Given the description of an element on the screen output the (x, y) to click on. 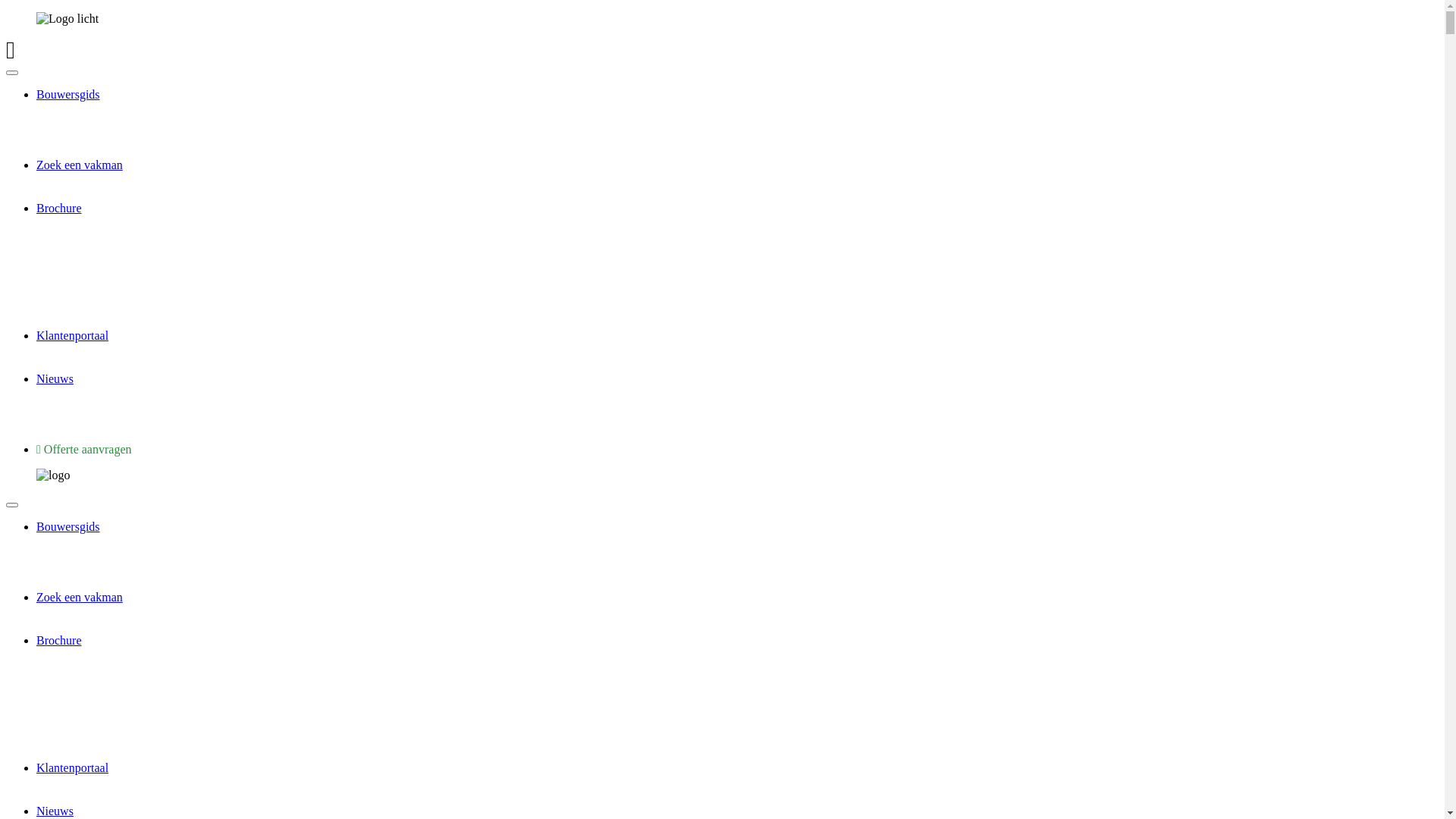
Klantenportaal Element type: text (72, 335)
Bouwersgids Element type: text (68, 93)
Nieuws Element type: text (54, 810)
Brochure Element type: text (58, 207)
Zoek een vakman Element type: text (79, 164)
Klantenportaal Element type: text (72, 767)
Brochure Element type: text (58, 639)
Zoek een vakman Element type: text (79, 596)
Bouwersgids Element type: text (68, 526)
Offerte aanvragen Element type: text (83, 448)
Nieuws Element type: text (54, 378)
